Given the description of an element on the screen output the (x, y) to click on. 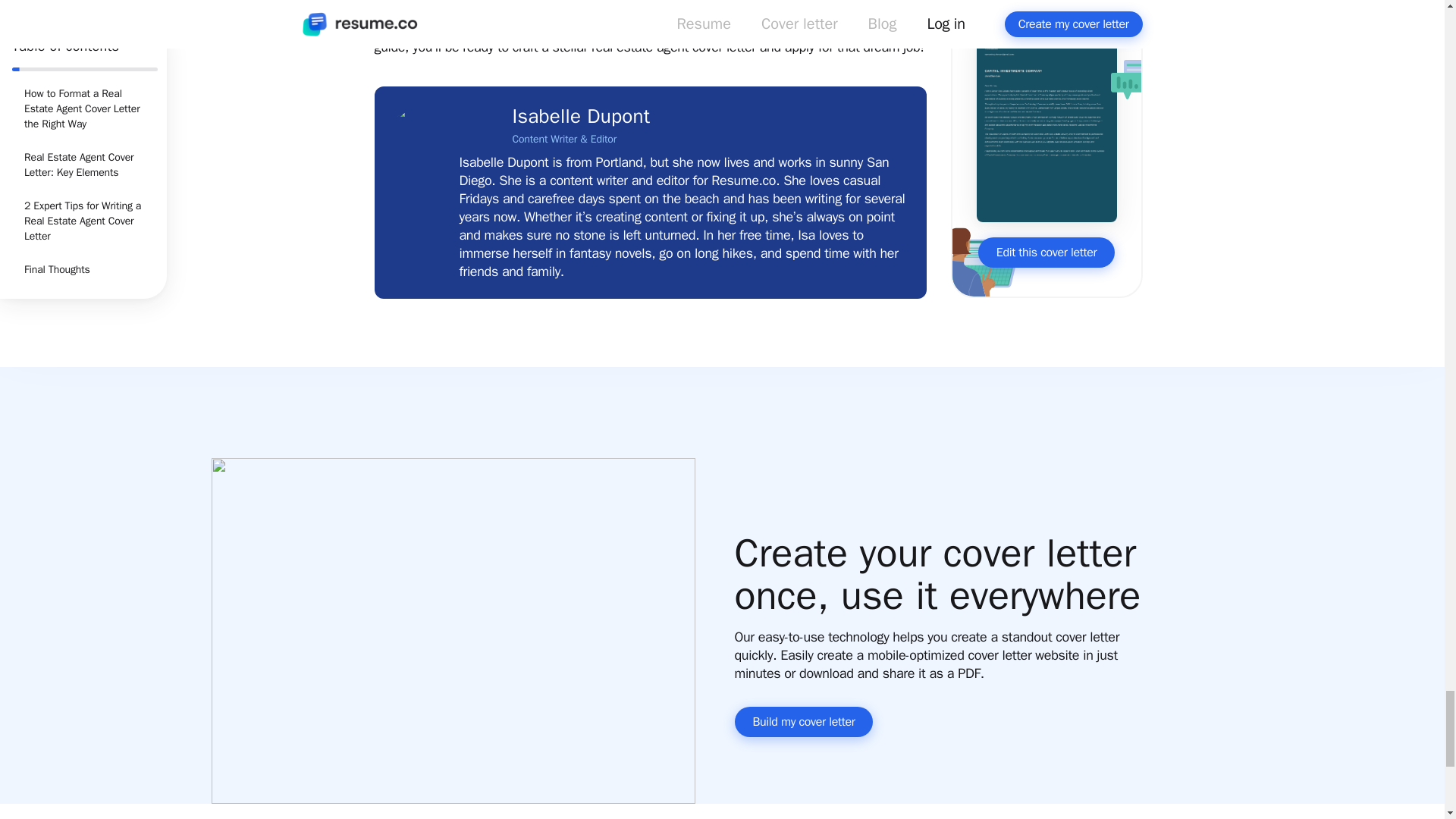
Build my cover letter (802, 721)
